Given the description of an element on the screen output the (x, y) to click on. 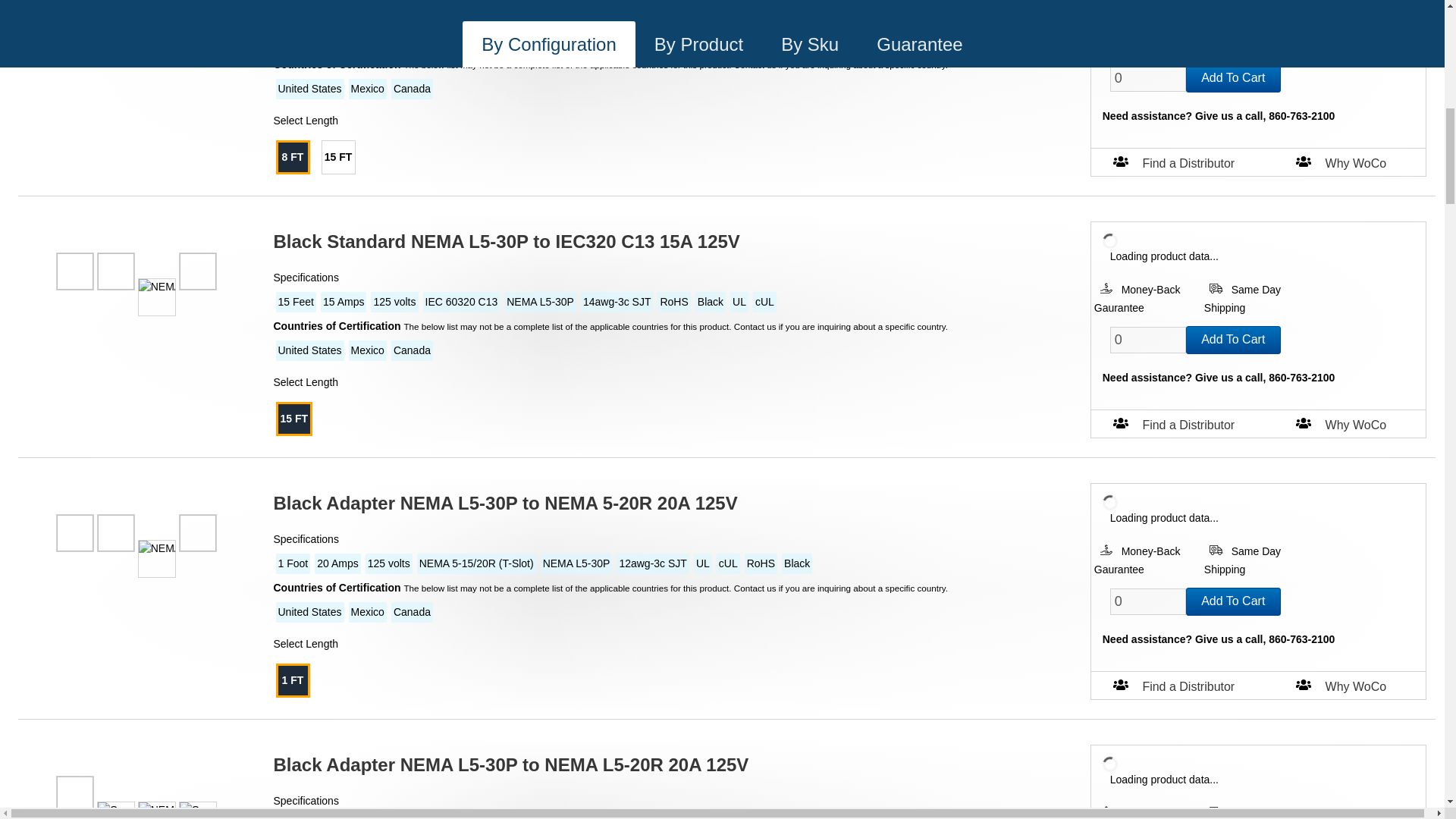
0 (1147, 339)
0 (1147, 601)
0 (1147, 78)
